Given the description of an element on the screen output the (x, y) to click on. 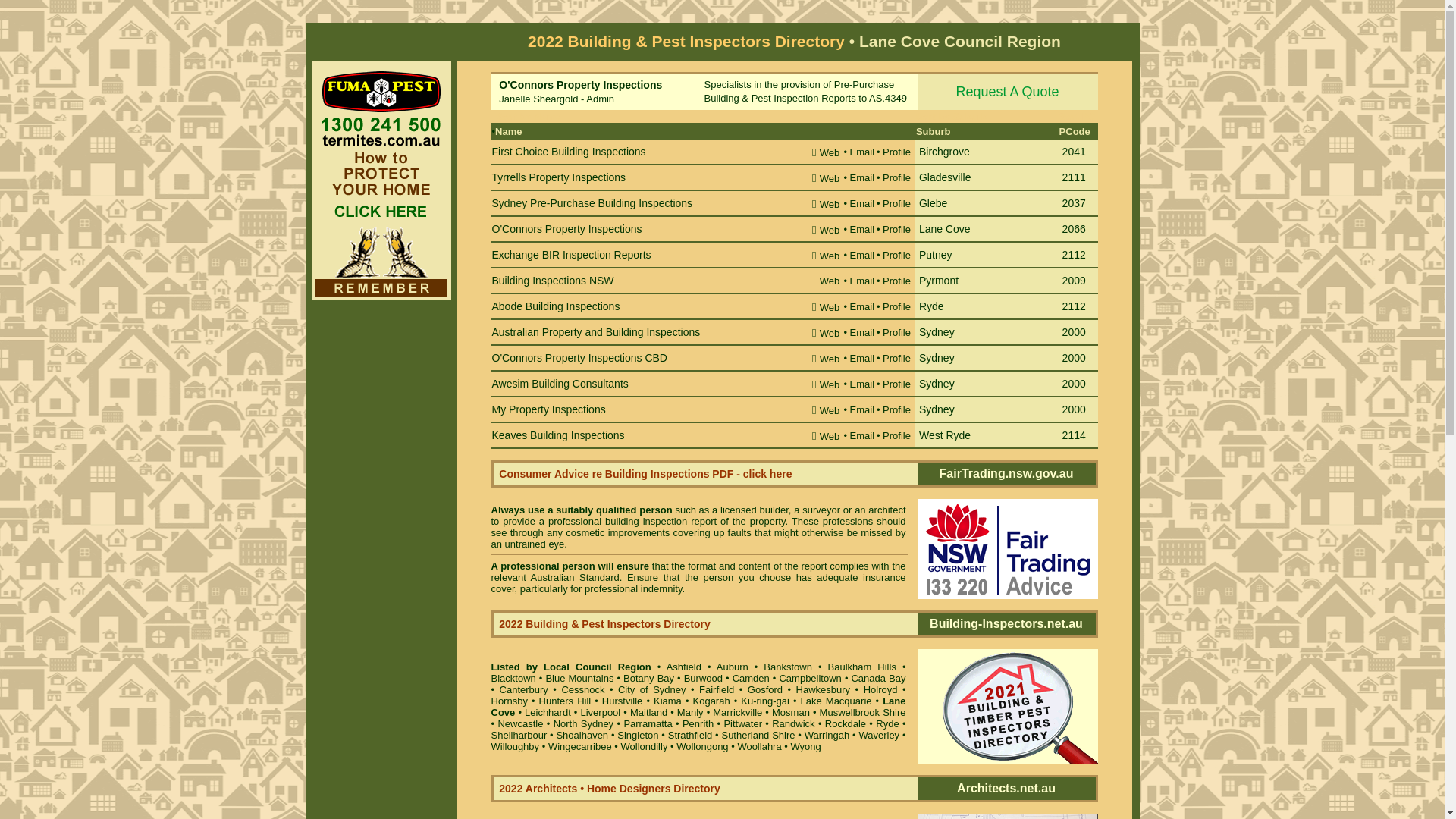
Kogarah Element type: text (711, 700)
Blue Mountains Element type: text (579, 677)
Suburb Element type: text (933, 131)
Burwood Element type: text (703, 677)
Bankstown Element type: text (787, 666)
Sydney Element type: text (936, 358)
Singleton Element type: text (637, 734)
Marrickville Element type: text (737, 712)
Pittwater Element type: text (742, 722)
Request A Quote Element type: text (1007, 91)
Ryde Element type: text (931, 306)
Sort by Suburb Element type: text (951, 116)
Strathfield Element type: text (690, 734)
Auburn Element type: text (732, 666)
Wingecarribee Element type: text (579, 745)
Warringah Element type: text (826, 734)
Shellharbour Element type: text (519, 734)
Gladesville Element type: text (944, 177)
Rockdale Element type: text (845, 722)
Waverley Element type: text (878, 734)
Shoalhaven Element type: text (581, 734)
Kiama Element type: text (667, 700)
Building-Inspectors.net.au Element type: text (1005, 623)
Blacktown Element type: text (513, 677)
City of Sydney Element type: text (652, 689)
Randwick Element type: text (792, 722)
Woollahra Element type: text (759, 745)
Canada Bay Element type: text (877, 677)
West Ryde Element type: text (944, 435)
Muswellbrook Shire Element type: text (862, 712)
Parramatta Element type: text (647, 722)
Hornsby Element type: text (509, 700)
Botany Bay Element type: text (648, 677)
Sort PC Element type: text (1077, 116)
Hawkesbury Element type: text (823, 689)
Wollongong Element type: text (702, 745)
Sort by Name Element type: text (529, 116)
Ashfield Element type: text (683, 666)
Cessnock Element type: text (582, 689)
FairTrading.nsw.gov.au Element type: text (1006, 473)
Lane Cove Element type: text (944, 229)
Hurstville Element type: text (622, 700)
Glebe Element type: text (933, 203)
Willoughby Element type: text (515, 745)
Wollondilly Element type: text (643, 745)
Manly Element type: text (690, 712)
Listed by Local Council Region Element type: text (571, 666)
Canterbury Element type: text (523, 689)
Mosman Element type: text (790, 712)
Fairfield Element type: text (716, 689)
Lane Cove Element type: text (698, 705)
Penrith Element type: text (697, 722)
PCode Element type: text (1074, 131)
Pyrmont Element type: text (938, 280)
Maitland Element type: text (648, 712)
Ryde Element type: text (886, 722)
Putney Element type: text (935, 254)
Architects.net.au Element type: text (1006, 787)
Holroyd Element type: text (880, 689)
Baulkham Hills Element type: text (862, 666)
Ku-ring-gai Element type: text (764, 700)
Leichhardt Element type: text (547, 712)
Sutherland Shire Element type: text (757, 734)
North Sydney Element type: text (583, 722)
Campbelltown Element type: text (809, 677)
Sydney Element type: text (936, 332)
Wyong Element type: text (805, 745)
Sydney Element type: text (936, 409)
Hunters Hill Element type: text (565, 700)
Newcastle Element type: text (519, 722)
click here Element type: text (767, 473)
Gosford Element type: text (764, 689)
Camden Element type: text (750, 677)
Lake Macquarie Element type: text (836, 700)
Liverpool Element type: text (600, 712)
Birchgrove Element type: text (944, 151)
Sydney Element type: text (936, 383)
